Given the description of an element on the screen output the (x, y) to click on. 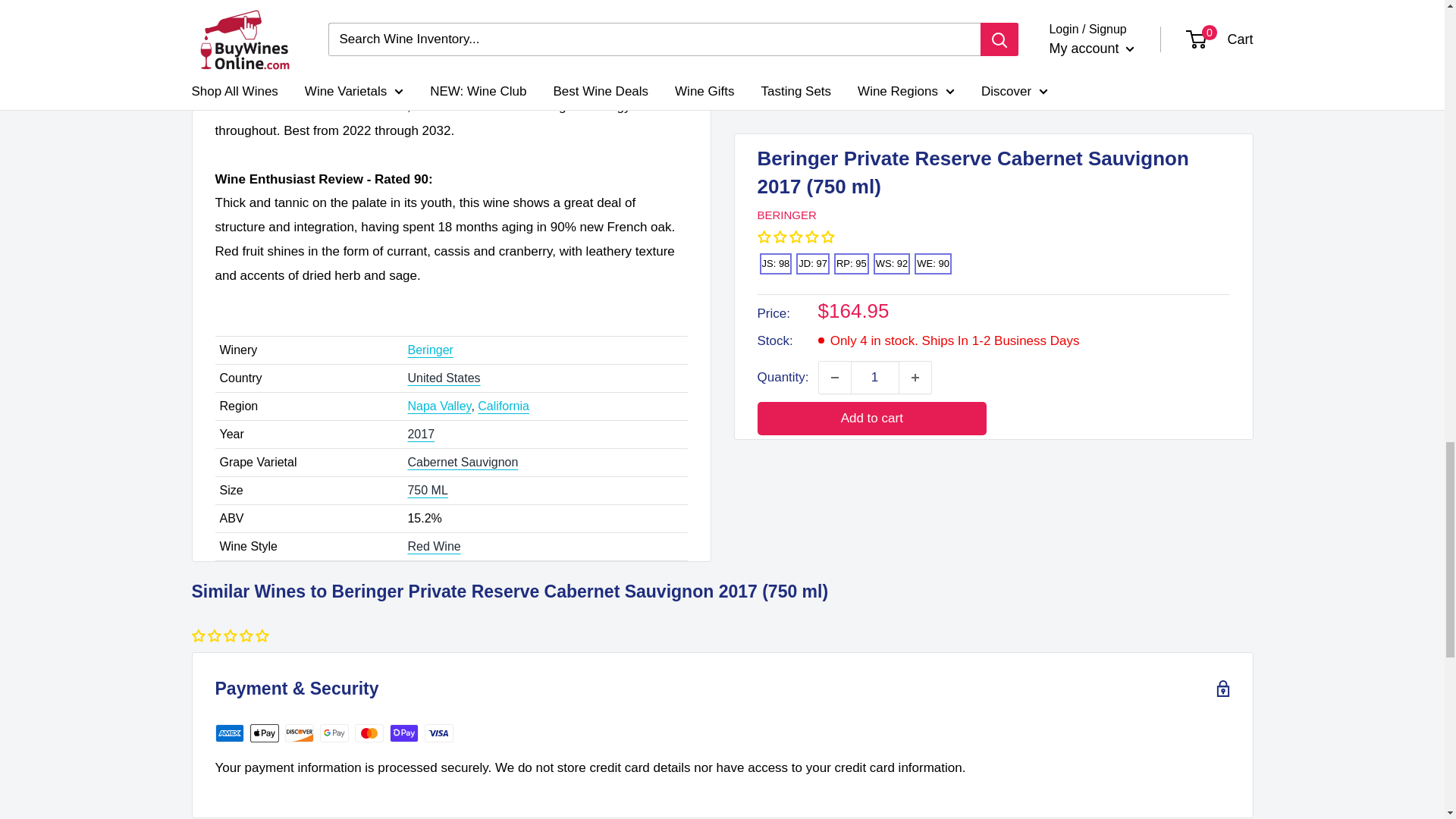
United States Wine Collection (443, 377)
Cabernet Sauvignon Varietal Wine Collection (462, 461)
Red Wine Collection (433, 545)
750 ML Bottle Wine Collection (426, 490)
2017 Vintage Wines (420, 433)
Beringer Wine Collection (429, 349)
California Wine Collection (503, 405)
Napa Valley Region Wine Collection (438, 405)
